Given the description of an element on the screen output the (x, y) to click on. 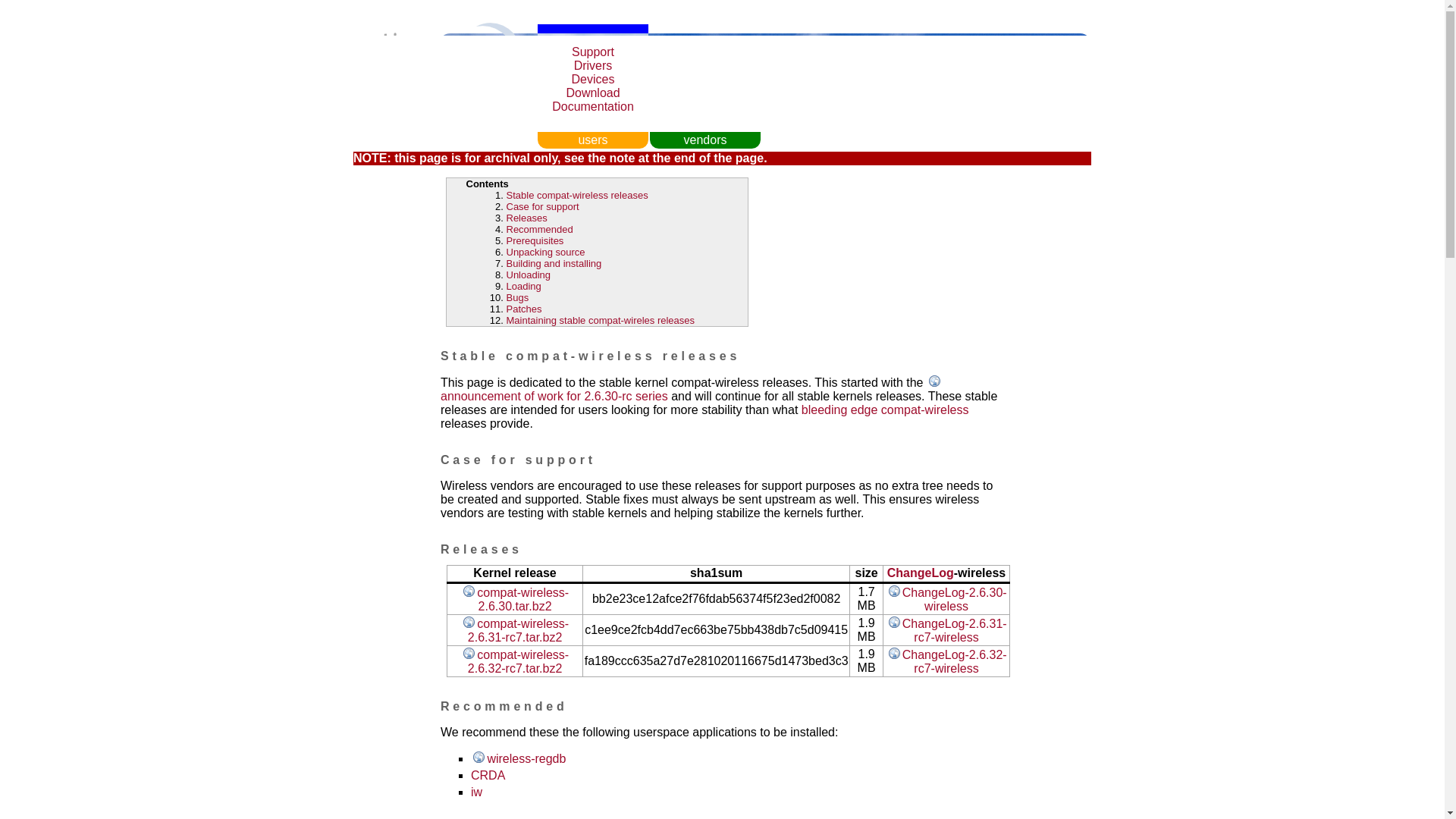
Building and installing (554, 263)
compat-wireless-2.6.31-rc7.tar.bz2 (515, 630)
Loading (523, 285)
vendors (704, 139)
ChangeLog (919, 572)
compat-wireless-2.6.32-rc7.tar.bz2 (515, 661)
Unloading (528, 274)
Documentation (592, 106)
Maintaining stable compat-wireles releases (600, 319)
Devices (593, 78)
ChangeLog-2.6.30-wireless (945, 598)
Releases (526, 217)
Support (593, 51)
Download (593, 92)
Drivers (592, 65)
